Given the description of an element on the screen output the (x, y) to click on. 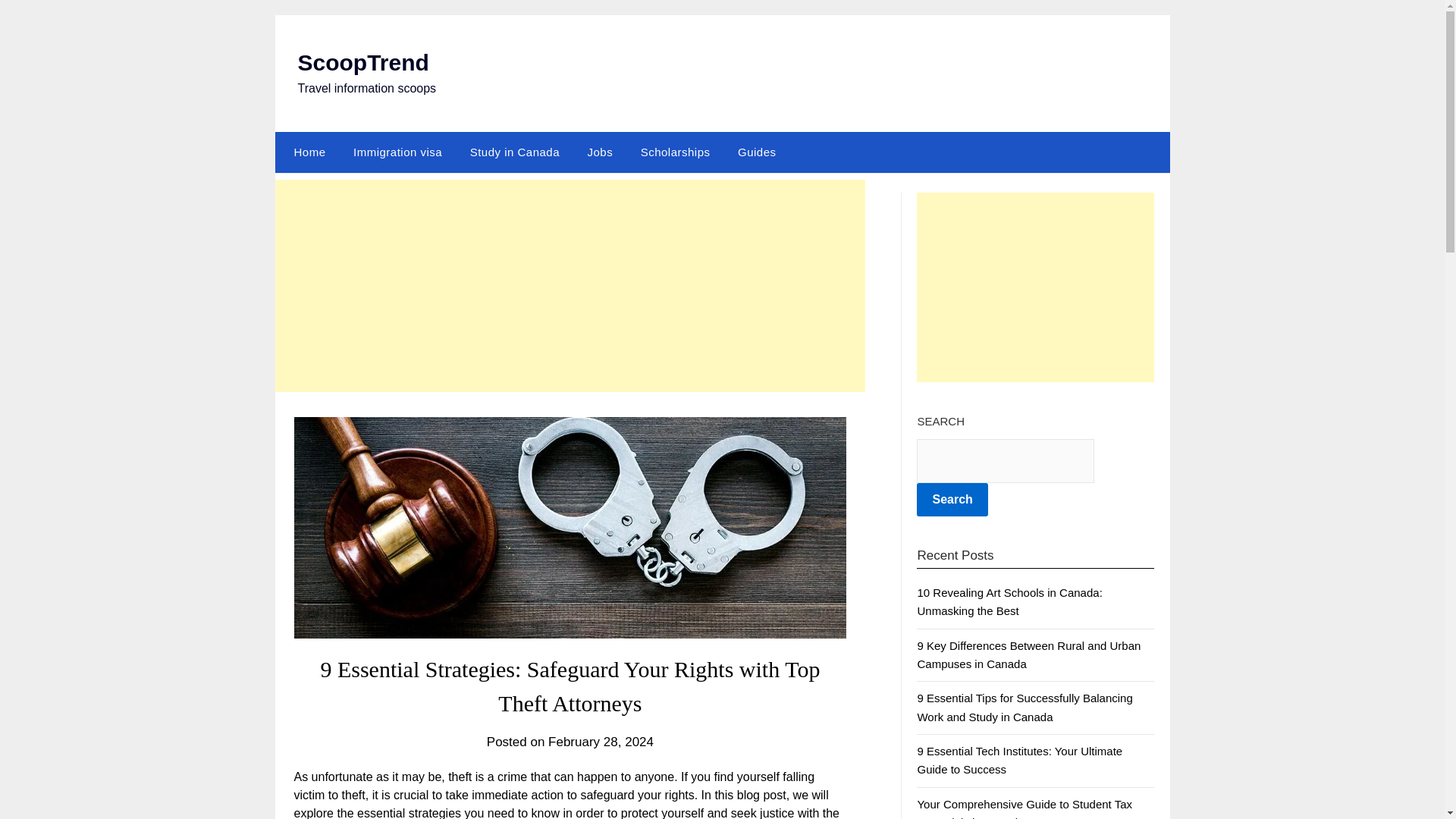
Immigration visa (397, 151)
10 Revealing Art Schools in Canada: Unmasking the Best (1009, 601)
9 Essential Tech Institutes: Your Ultimate Guide to Success (1019, 759)
Scholarships (675, 151)
Search (952, 499)
Your Comprehensive Guide to Student Tax Essentials in Canada (1024, 808)
Study in Canada (515, 151)
Advertisement (1035, 287)
Jobs (599, 151)
